Given the description of an element on the screen output the (x, y) to click on. 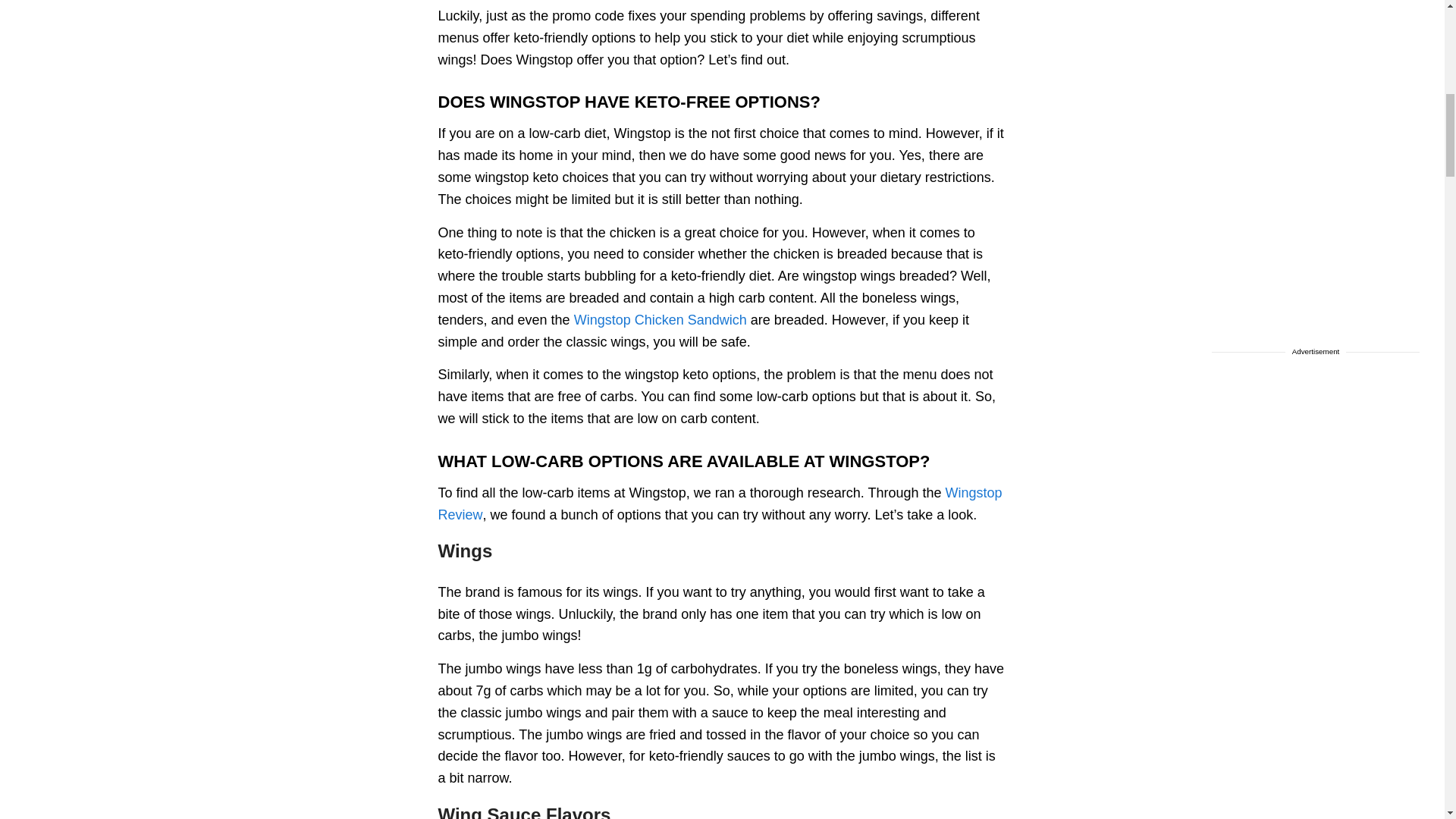
Wingstop Review (720, 503)
Advertisement (1315, 6)
Wingstop Chicken Sandwich (659, 319)
